Given the description of an element on the screen output the (x, y) to click on. 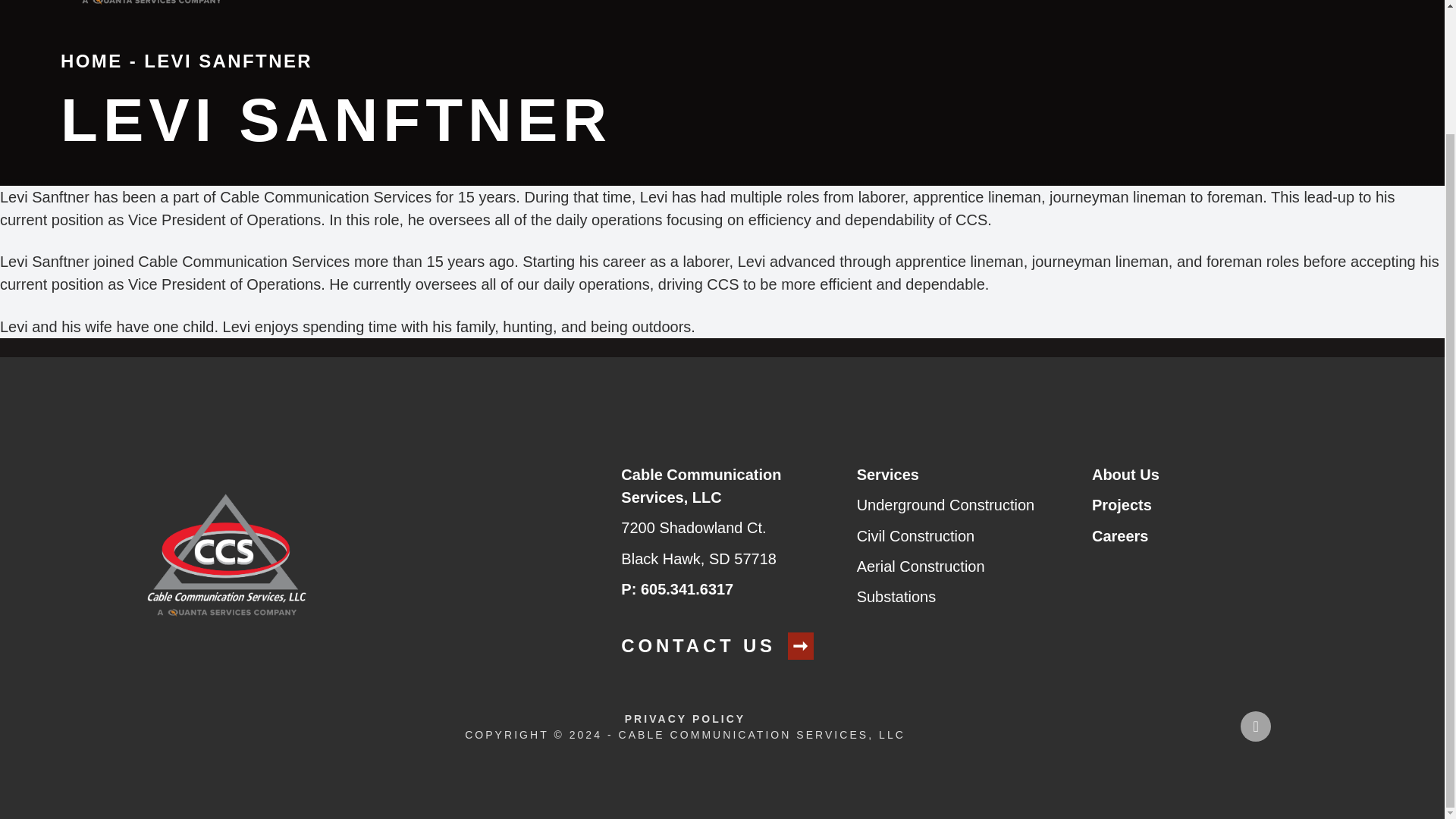
P: 605.341.6317 (677, 588)
PRIVACY POLICY (684, 719)
CONTACT US (723, 646)
Underground Construction (946, 504)
Visit us on facebook (1255, 726)
Careers (1120, 535)
Projects (1121, 504)
Civil Construction (916, 535)
Services (887, 474)
Back to Home (152, 5)
Substations (896, 596)
About Us (1125, 474)
Aerial Construction (921, 565)
Learn More About Contact Us (723, 646)
HOME (91, 60)
